Given the description of an element on the screen output the (x, y) to click on. 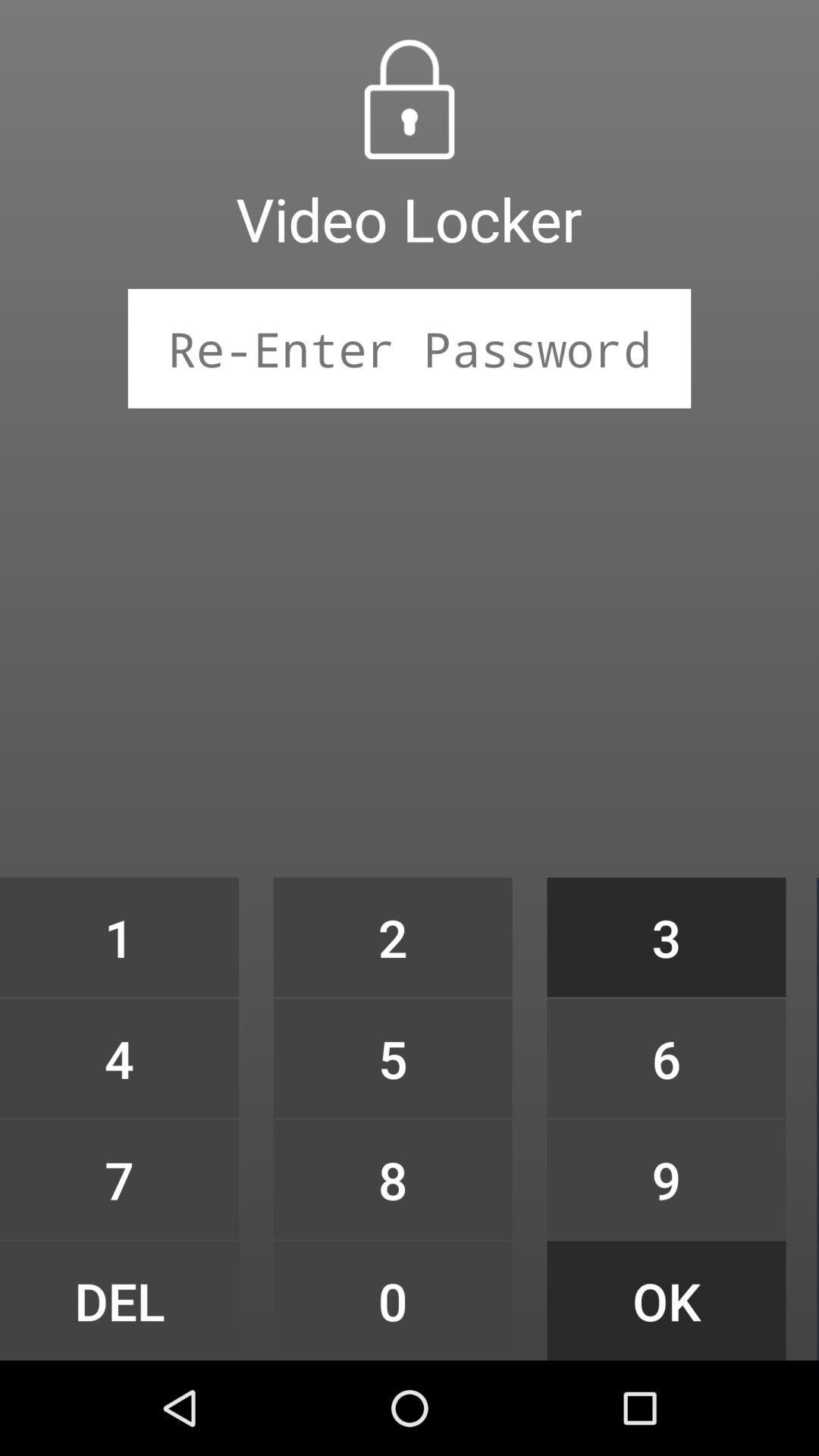
choose icon to the left of the 2 (119, 937)
